Given the description of an element on the screen output the (x, y) to click on. 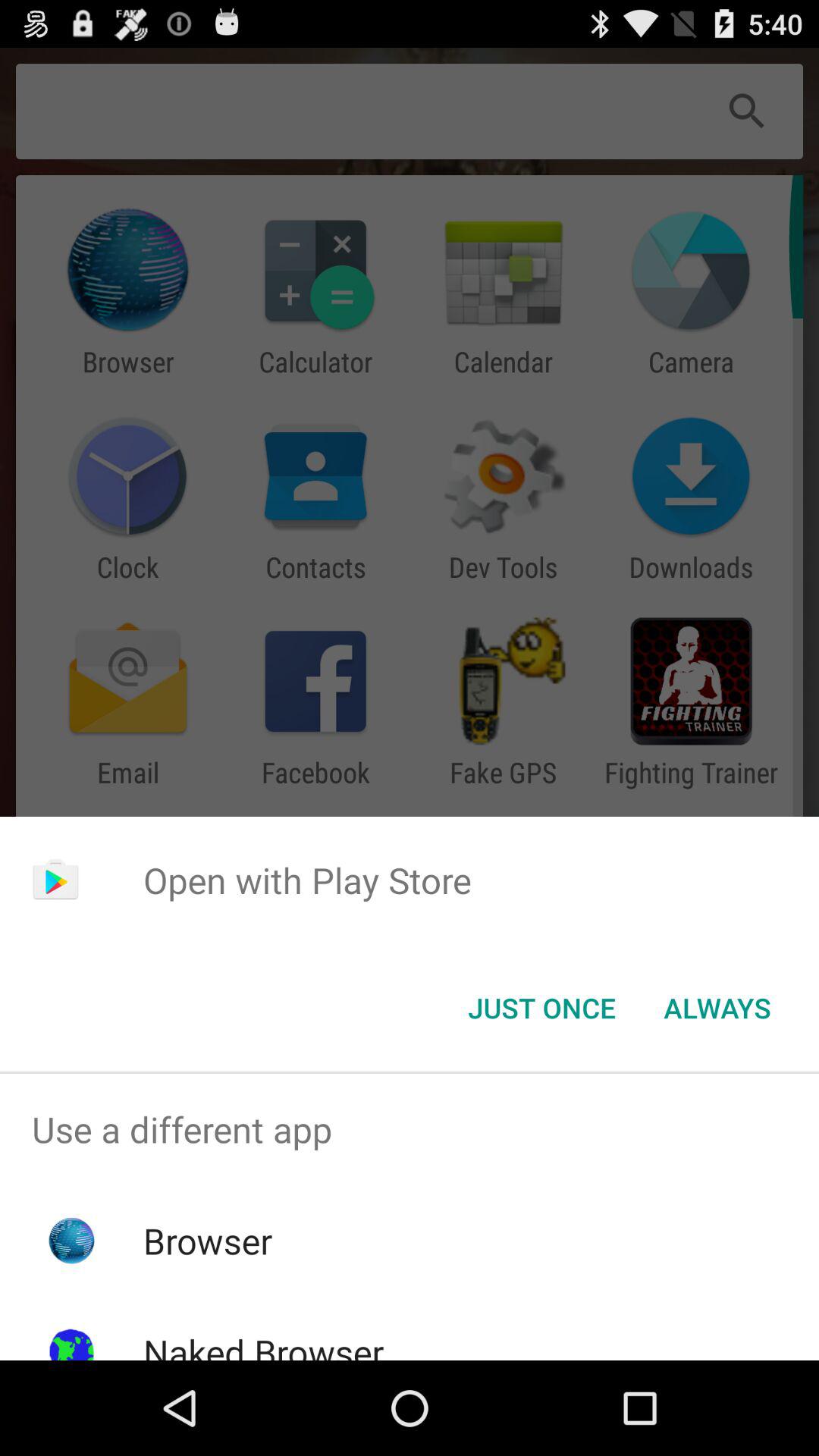
swipe until always button (717, 1007)
